Given the description of an element on the screen output the (x, y) to click on. 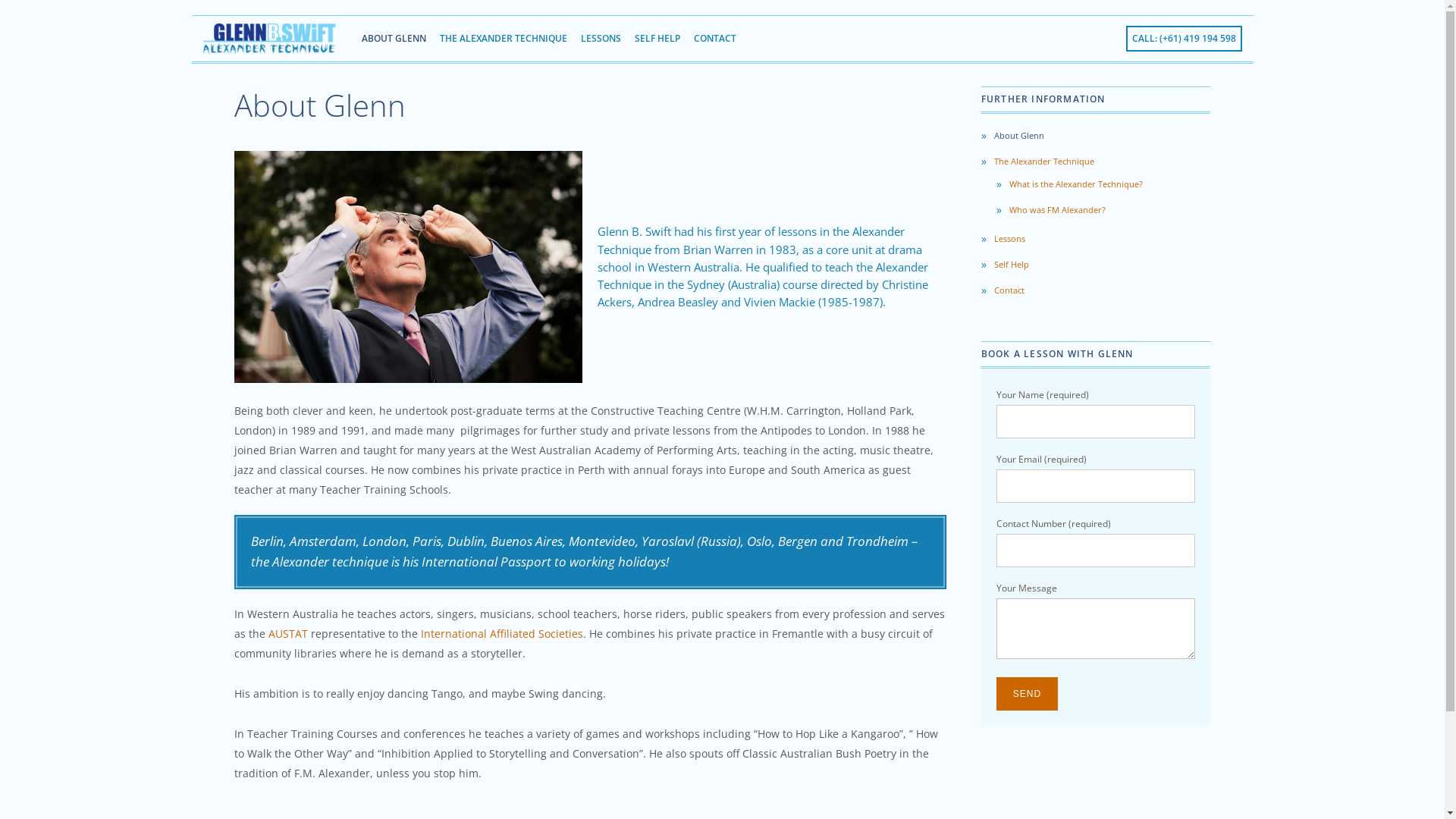
THE ALEXANDER TECHNIQUE Element type: text (503, 38)
SELF HELP Element type: text (657, 38)
The Alexander Technique Element type: text (1096, 161)
LESSONS Element type: text (600, 38)
CONTACT Element type: text (714, 38)
Lessons Element type: text (1096, 238)
Contact Element type: text (1096, 290)
International Affiliated Societies Element type: text (501, 633)
CALL: (+61) 419 194 598 Element type: text (1183, 38)
About Glenn Element type: text (1096, 135)
Send Element type: text (1026, 693)
ABOUT GLENN Element type: text (393, 38)
Who was FM Alexander? Element type: text (1103, 209)
Self Help Element type: text (1096, 264)
What is the Alexander Technique? Element type: text (1103, 184)
AUSTAT  Element type: text (289, 633)
